Given the description of an element on the screen output the (x, y) to click on. 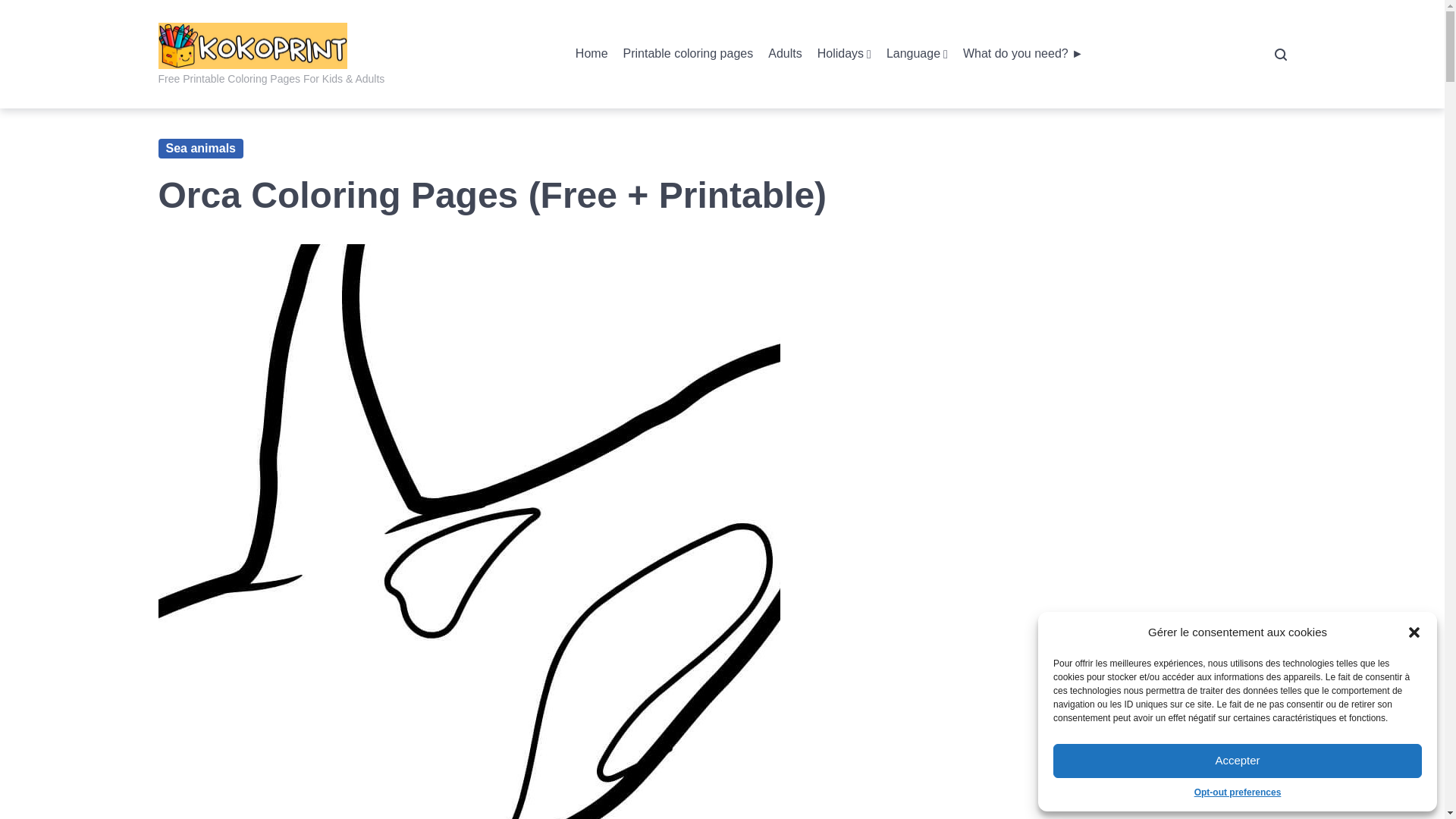
Accepter (1237, 760)
Language (916, 54)
Printable coloring pages (688, 54)
Home (591, 54)
Adults (785, 54)
Opt-out preferences (1237, 792)
Holidays (843, 54)
